Given the description of an element on the screen output the (x, y) to click on. 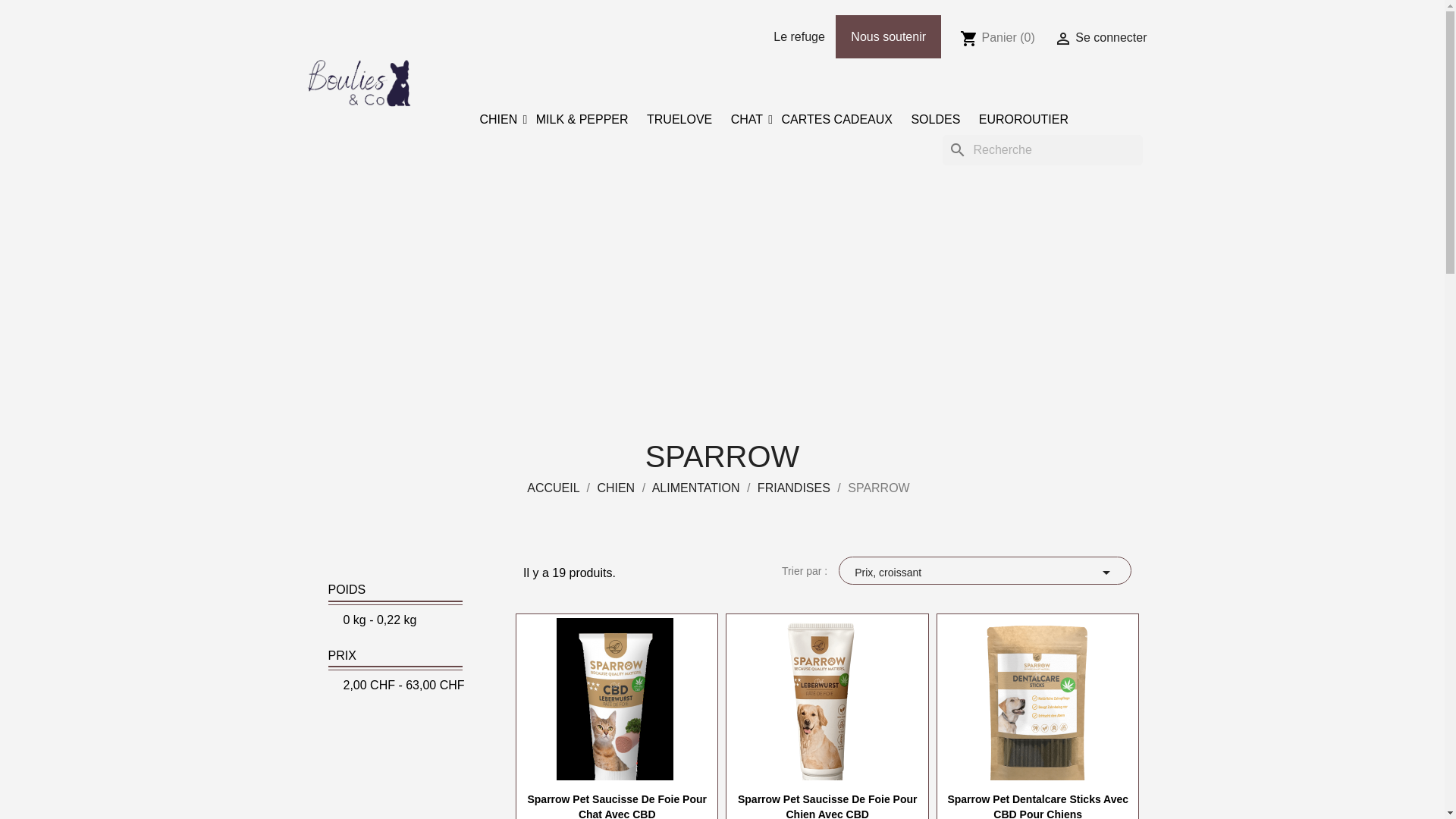
SOLDES Element type: text (935, 119)
Nous soutenir Element type: text (888, 36)
EUROROUTIER Element type: text (1023, 119)
ALIMENTATION Element type: text (696, 487)
ACCUEIL Element type: text (553, 487)
CHAT Element type: text (746, 119)
Le refuge Element type: text (799, 36)
MILK & PEPPER Element type: text (582, 119)
FRIANDISES Element type: text (793, 487)
CHIEN Element type: text (615, 487)
TRUELOVE Element type: text (679, 119)
CARTES CADEAUX Element type: text (837, 119)
CHIEN Element type: text (497, 119)
